Given the description of an element on the screen output the (x, y) to click on. 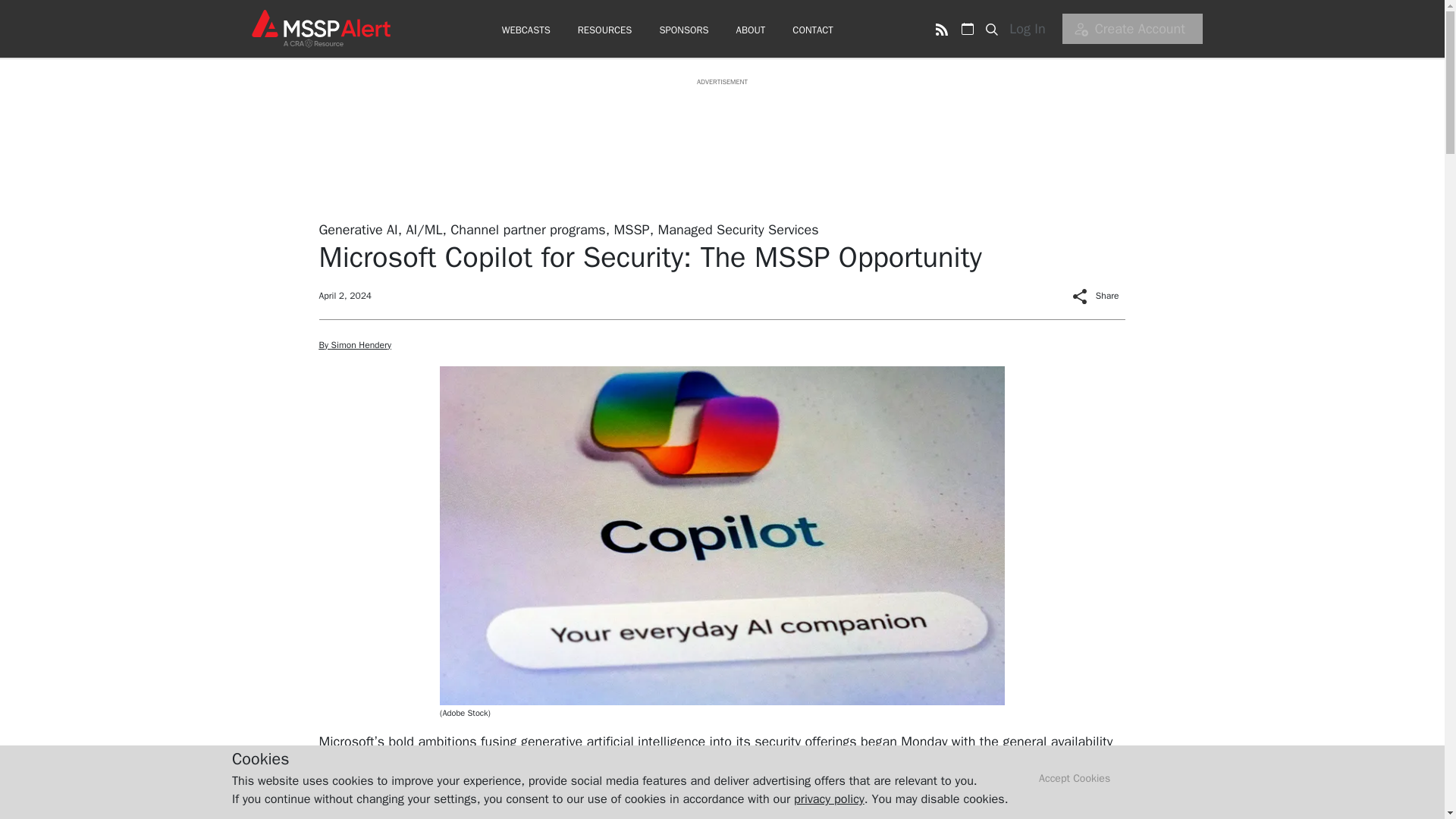
Generative AI (357, 229)
By Simon Hendery (354, 345)
Create Account (1132, 29)
3rd party ad content (721, 121)
RESOURCES (604, 30)
WEBCASTS (526, 30)
Managed Security Services (738, 229)
MSSP Alert (319, 27)
SPONSORS (683, 30)
Channel partner programs (527, 229)
View Cybersecurity Conference Calendar (967, 28)
ABOUT (750, 30)
Log In (1032, 29)
MSSP (631, 229)
CONTACT (812, 30)
